Given the description of an element on the screen output the (x, y) to click on. 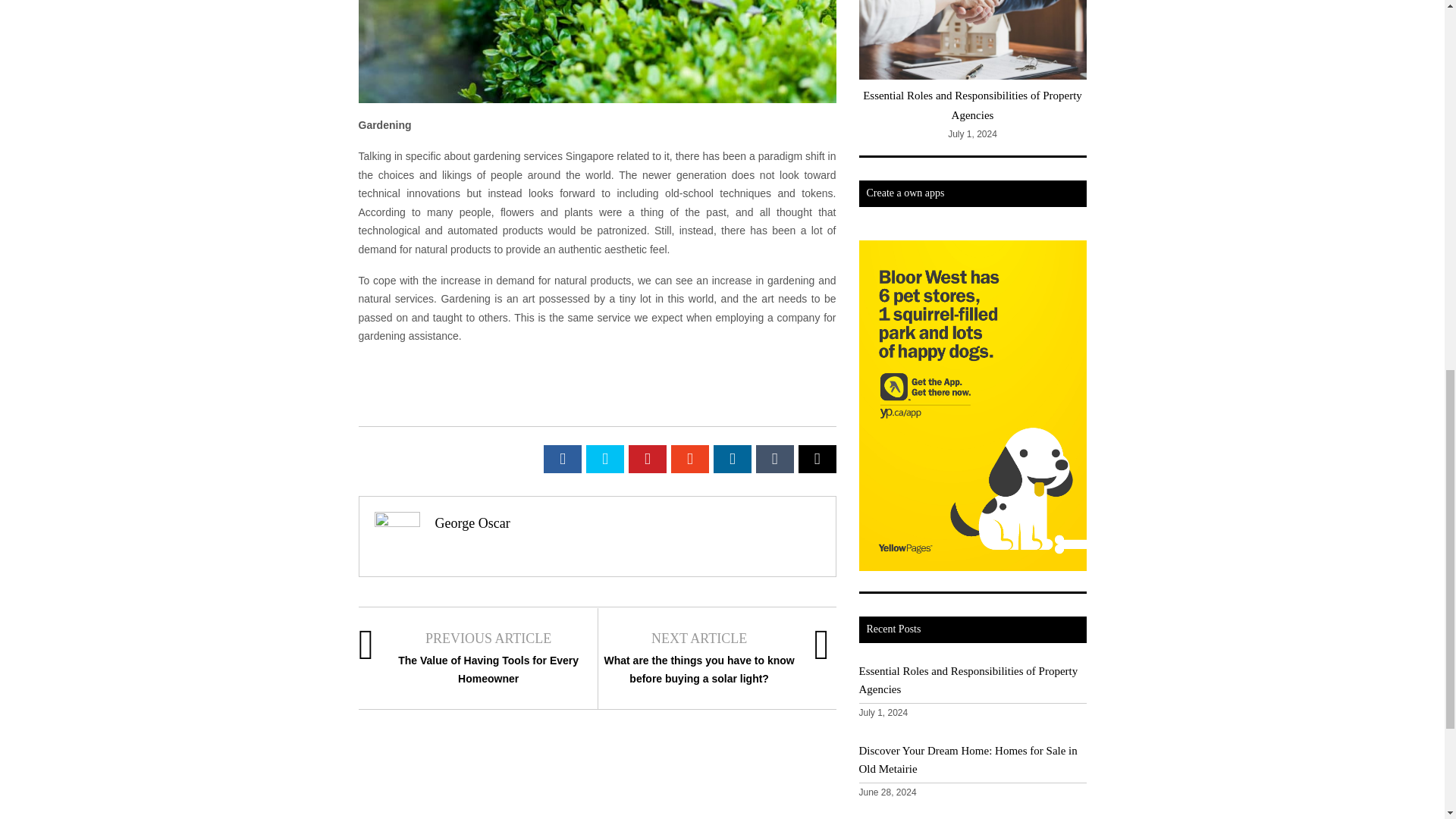
George Oscar (473, 522)
The Value of Having Tools for Every Homeowner (487, 669)
